Given the description of an element on the screen output the (x, y) to click on. 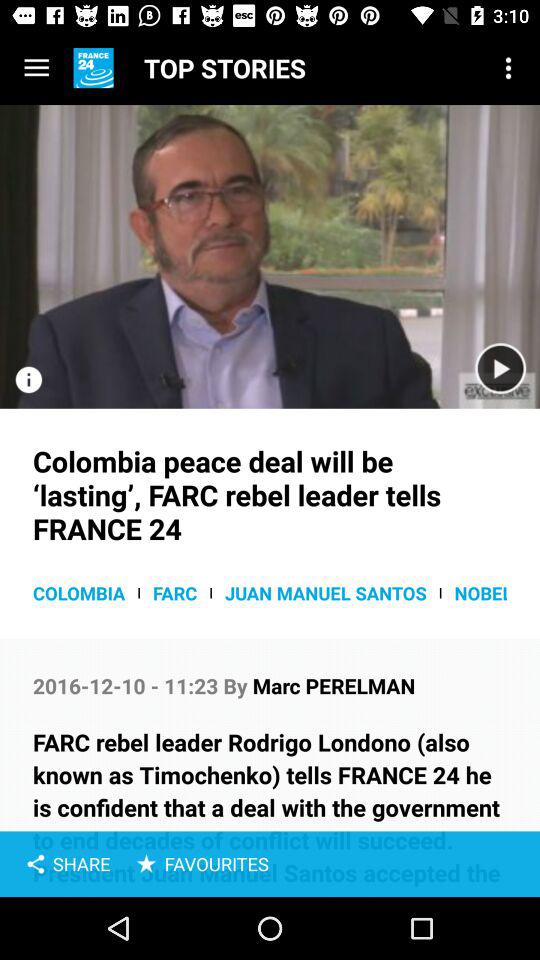
play this news video (270, 256)
